Given the description of an element on the screen output the (x, y) to click on. 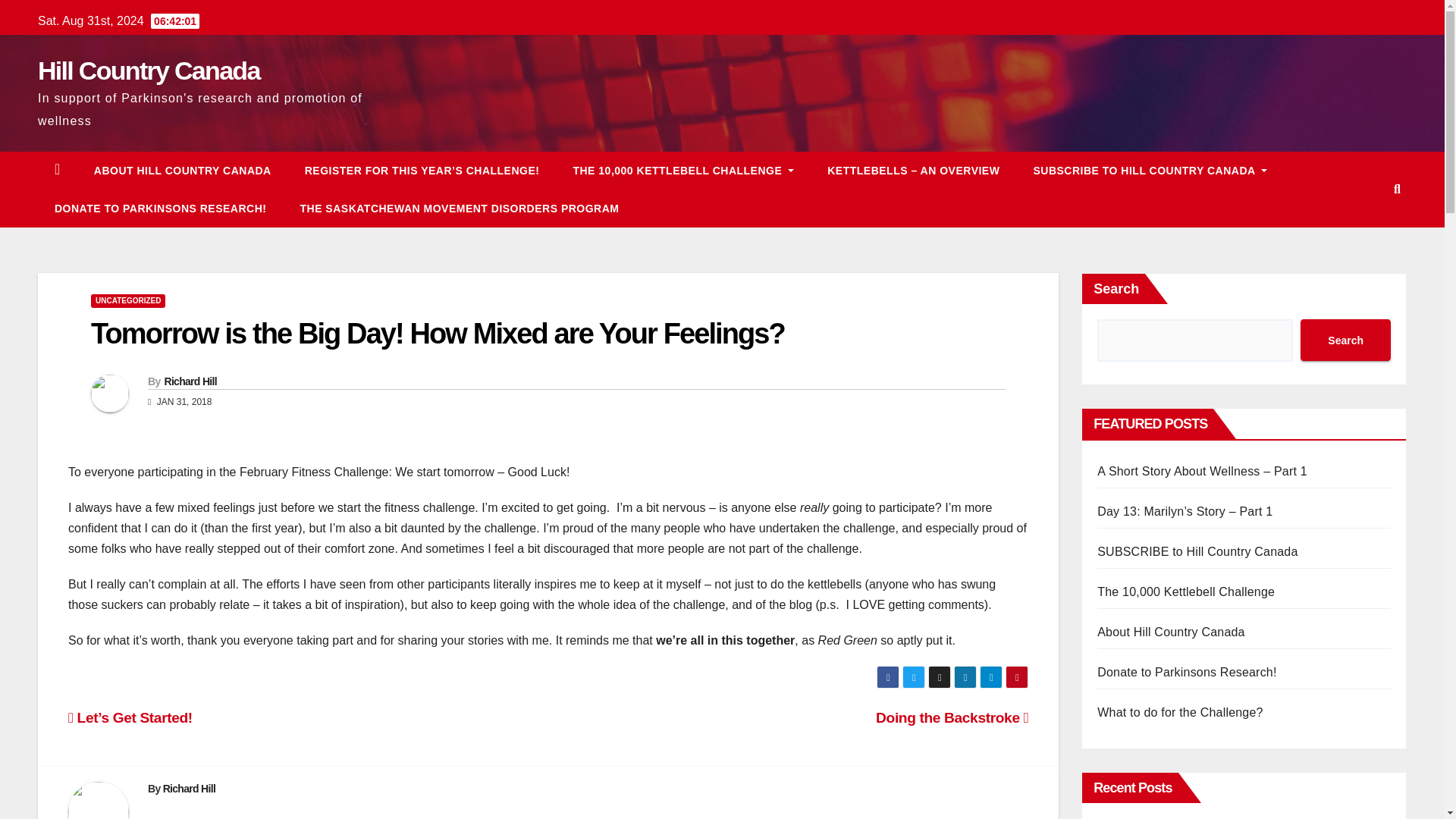
THE SASKATCHEWAN MOVEMENT DISORDERS PROGRAM (458, 208)
ABOUT HILL COUNTRY CANADA (182, 170)
Tomorrow is the Big Day! How Mixed are Your Feelings? (437, 333)
Hill Country Canada (148, 70)
UNCATEGORIZED (127, 300)
Doing the Backstroke (951, 717)
DONATE TO PARKINSONS RESEARCH! (159, 208)
Richard Hill (189, 788)
Donate to Parkinsons Research! (159, 208)
